Given the description of an element on the screen output the (x, y) to click on. 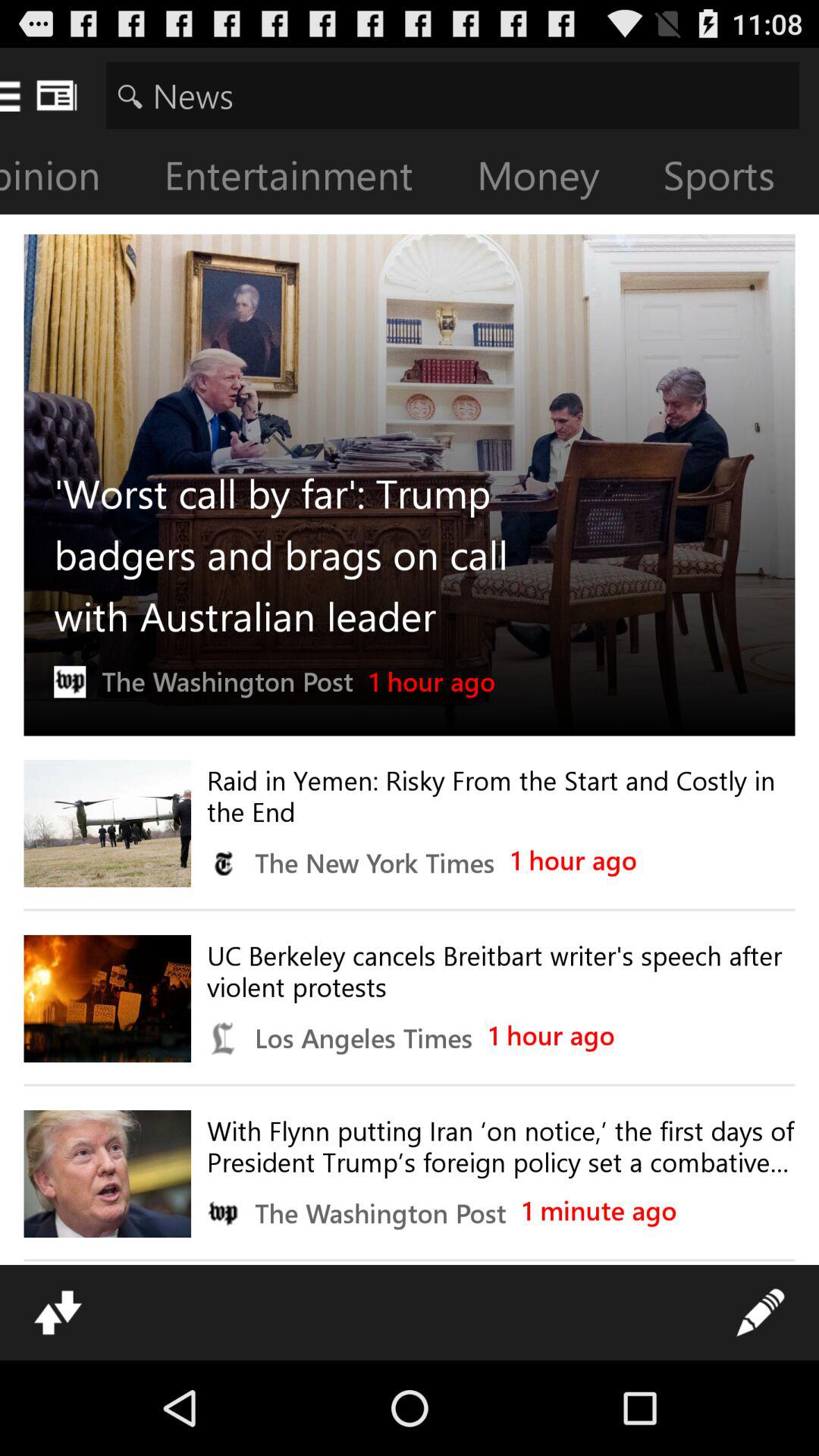
swipe until opinion icon (72, 178)
